Given the description of an element on the screen output the (x, y) to click on. 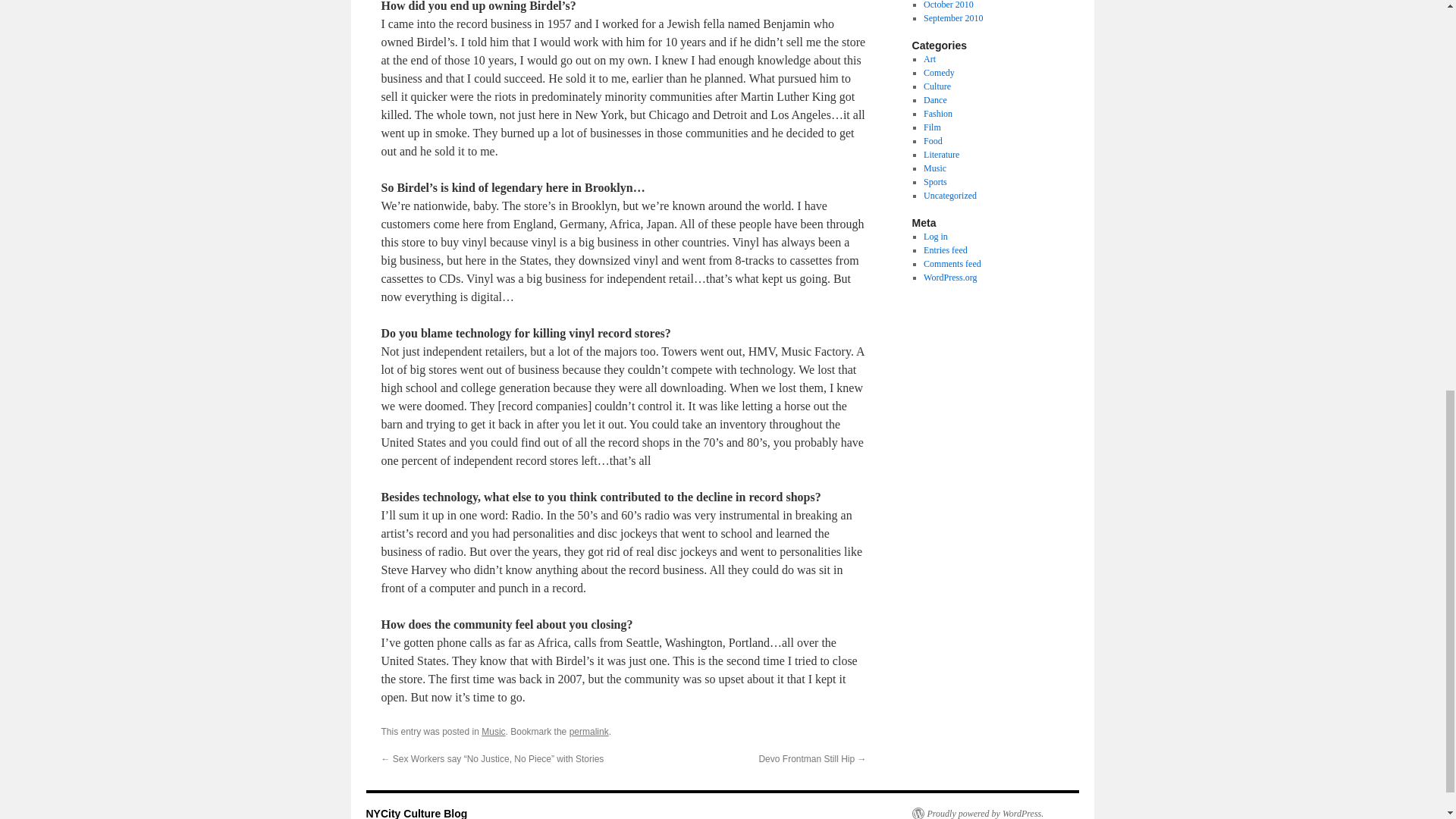
permalink (588, 731)
Permalink to Owner of Legendary Vinyl Shop Says Goodbye (588, 731)
Music (493, 731)
